Given the description of an element on the screen output the (x, y) to click on. 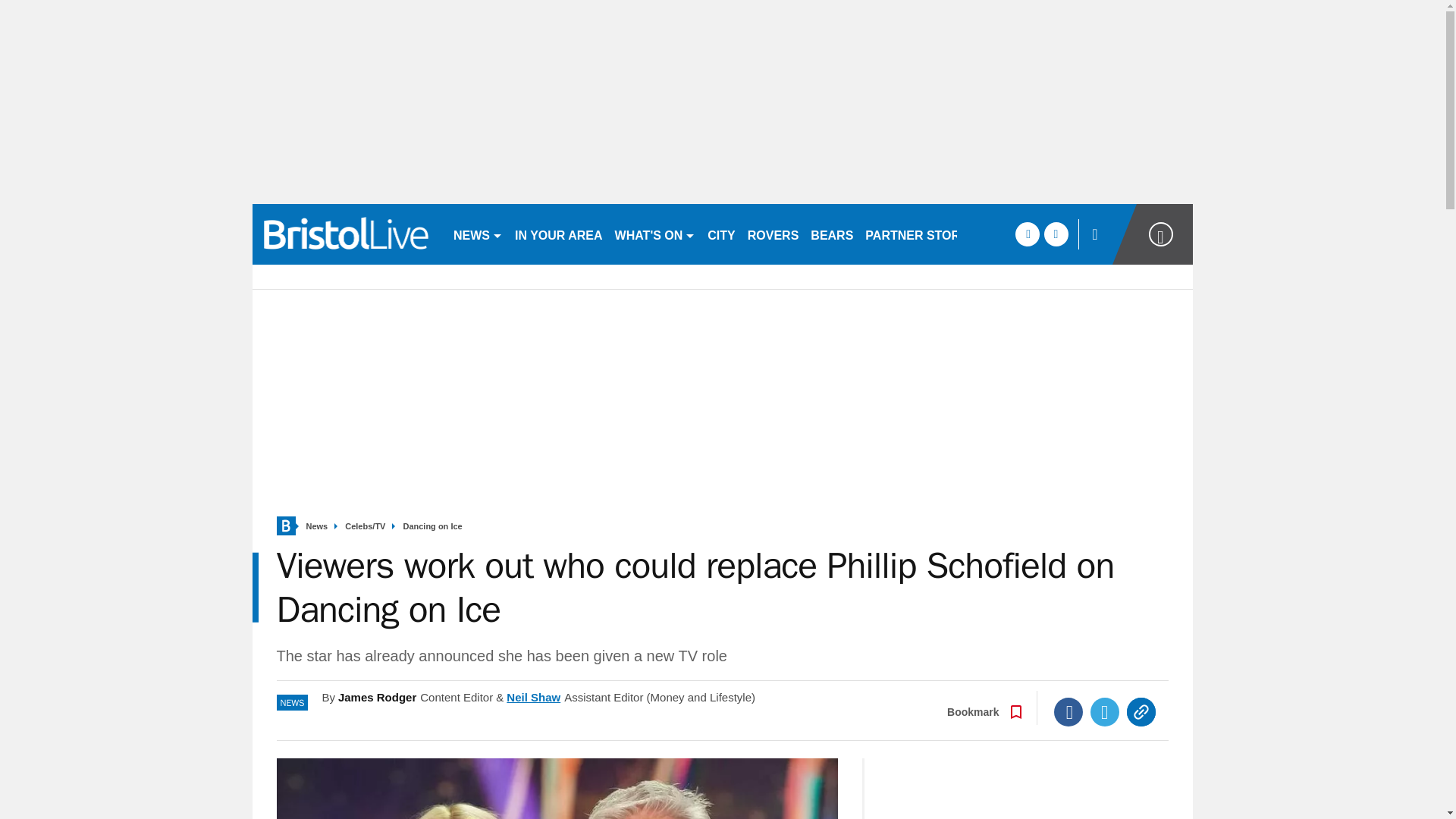
WHAT'S ON (654, 233)
bristolpost (345, 233)
PARTNER STORIES (922, 233)
Facebook (1068, 711)
ROVERS (773, 233)
Twitter (1104, 711)
CITY (721, 233)
BEARS (832, 233)
facebook (1026, 233)
NEWS (477, 233)
twitter (1055, 233)
IN YOUR AREA (558, 233)
